Given the description of an element on the screen output the (x, y) to click on. 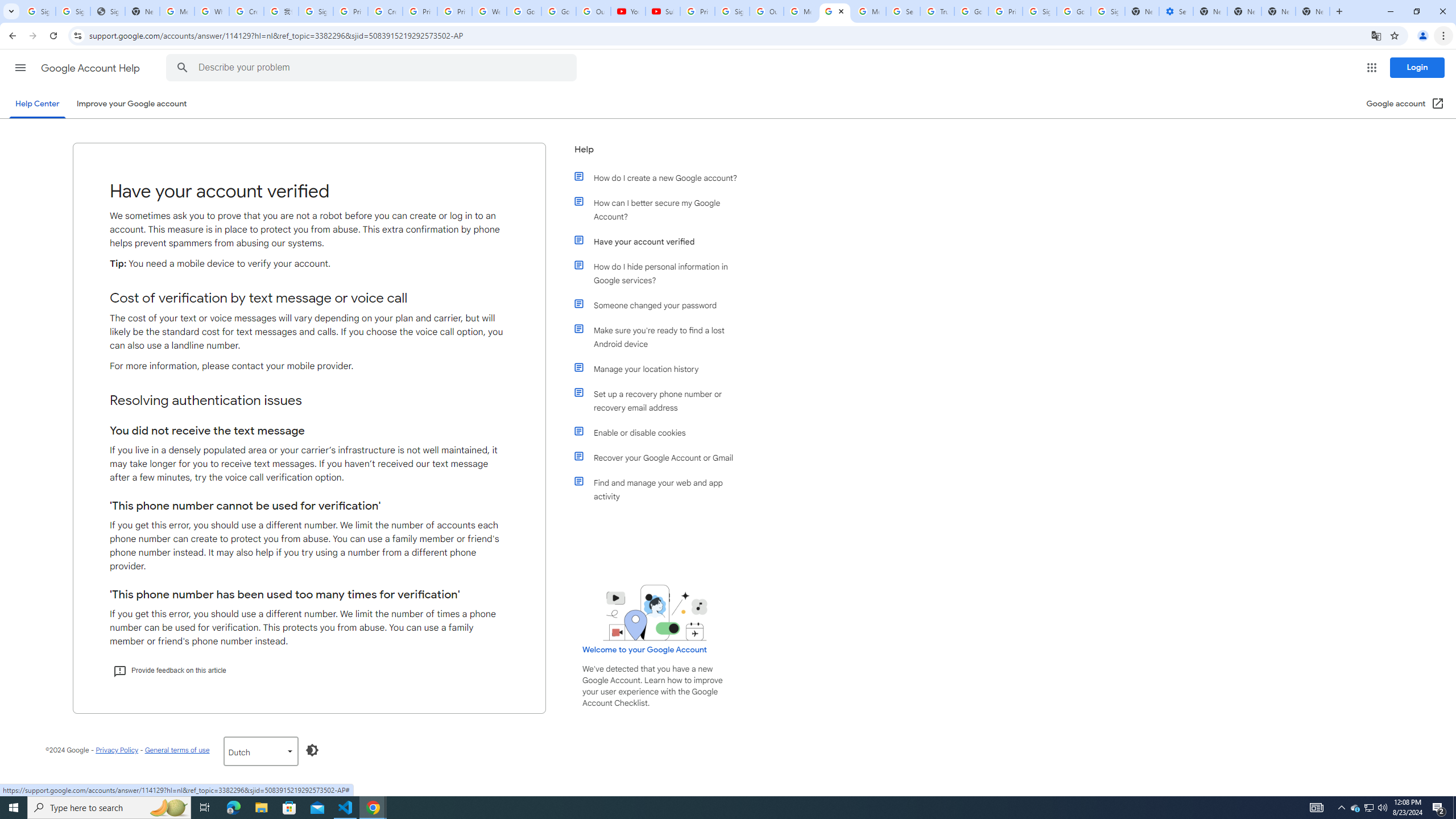
How do I hide personal information in Google services? (661, 273)
Learning Center home page image (655, 612)
Trusted Information and Content - Google Safety Center (937, 11)
Welcome to your Google Account (644, 649)
Settings - Performance (1176, 11)
Welcome to My Activity (489, 11)
Sign In - USA TODAY (107, 11)
